Given the description of an element on the screen output the (x, y) to click on. 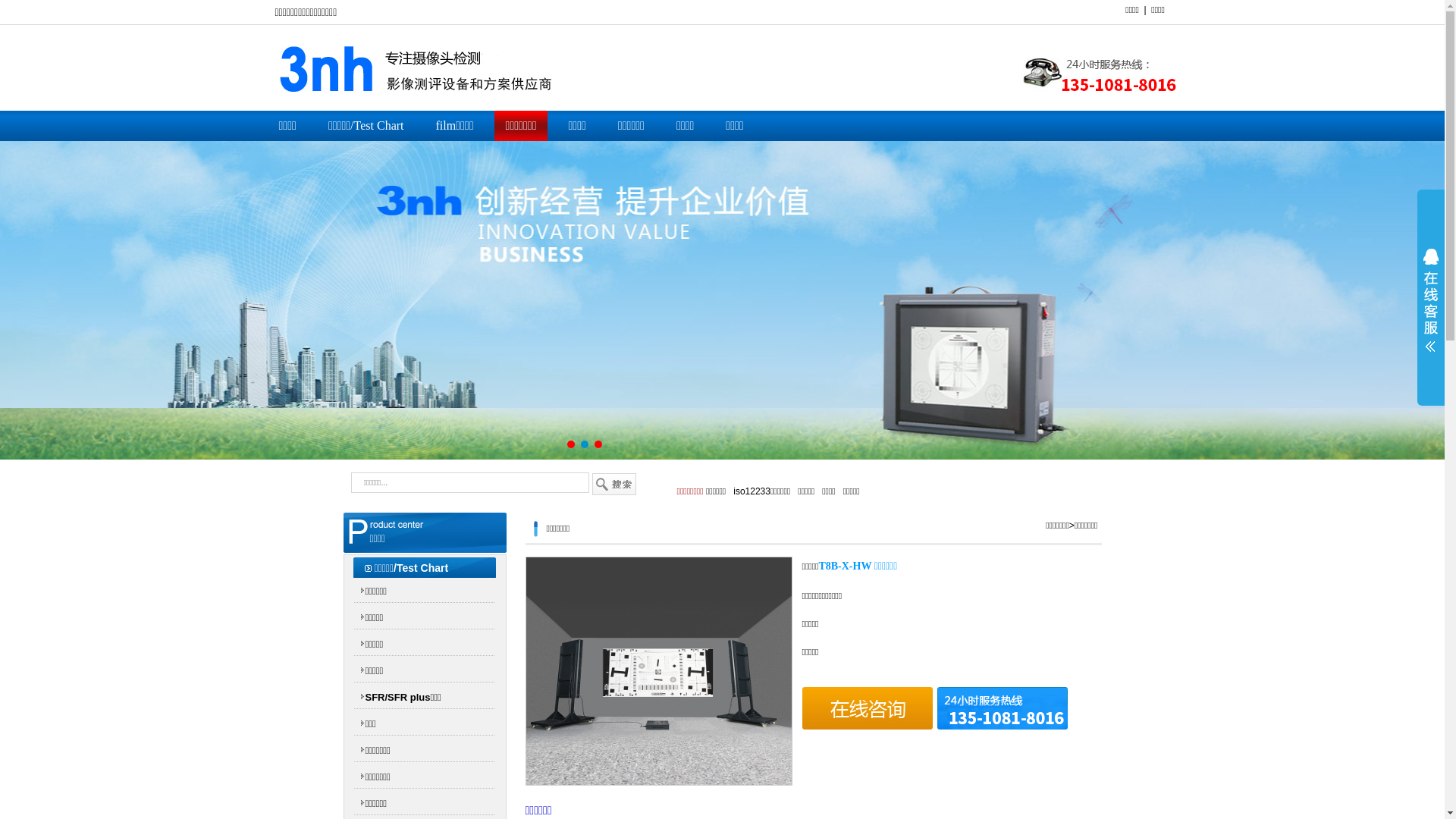
1 Element type: text (570, 444)
3 Element type: text (598, 444)
2 Element type: text (584, 444)
